Given the description of an element on the screen output the (x, y) to click on. 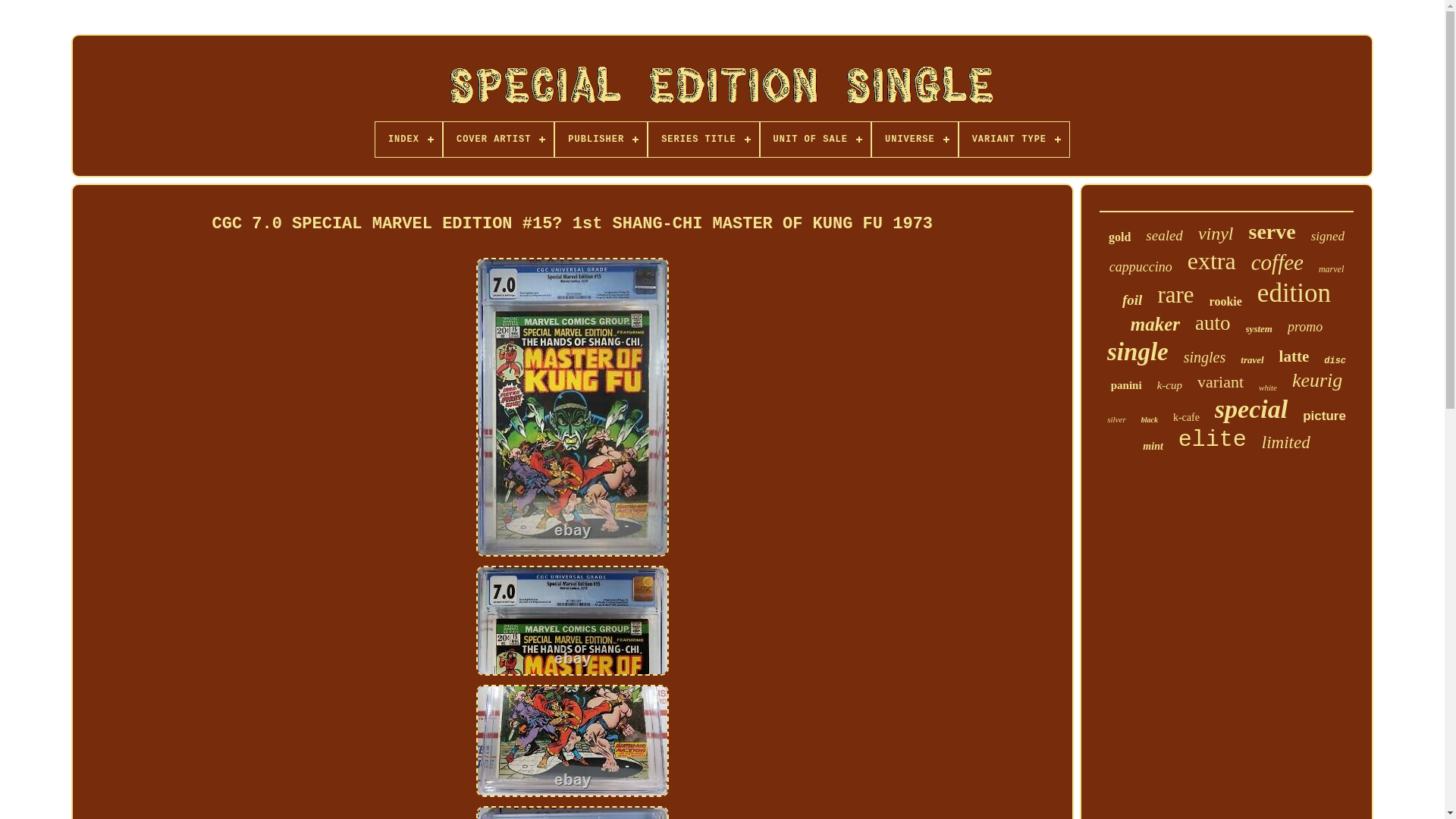
PUBLISHER (600, 139)
INDEX (408, 139)
COVER ARTIST (498, 139)
